Given the description of an element on the screen output the (x, y) to click on. 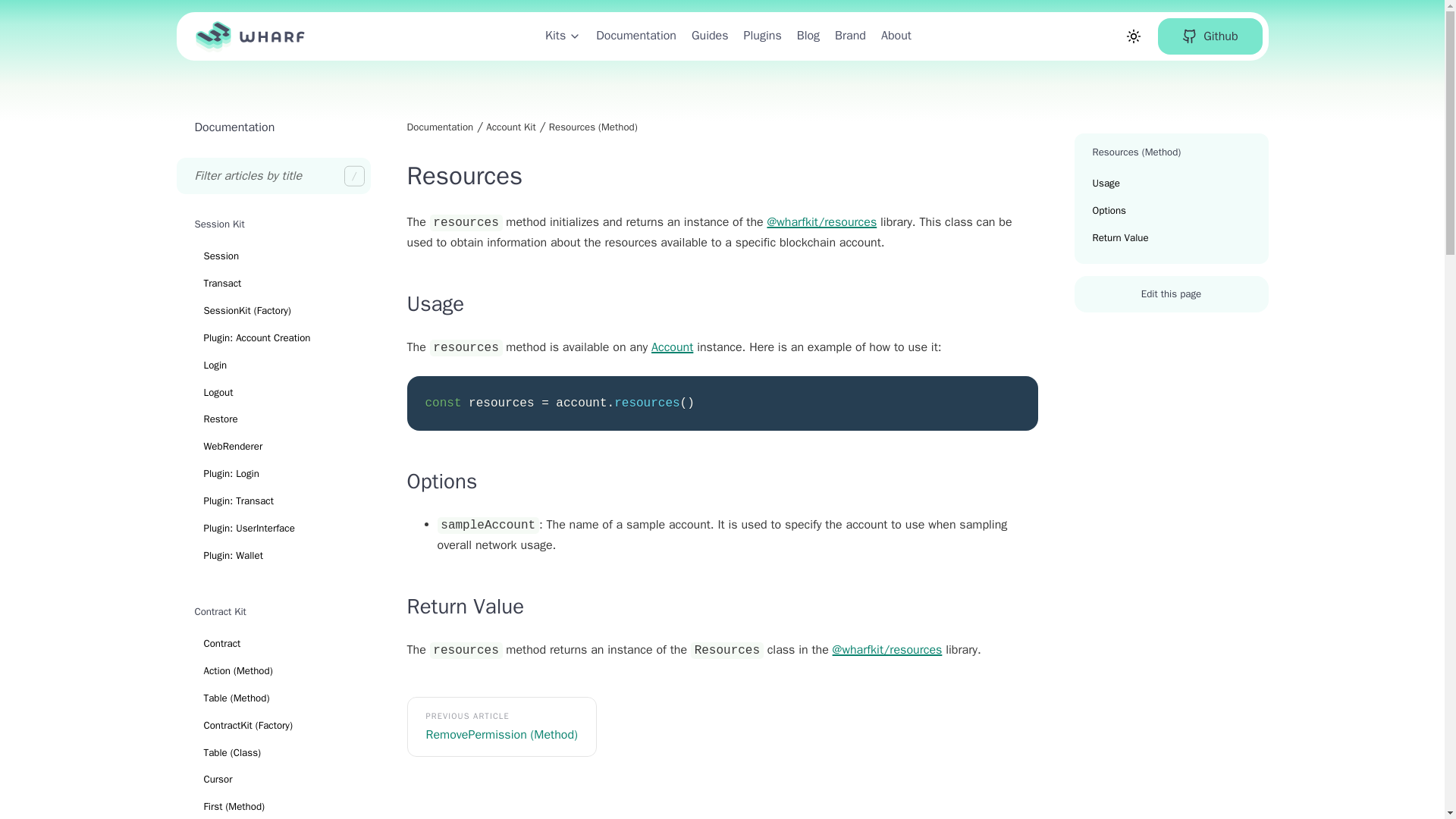
Restore (272, 419)
Login (272, 365)
Plugin: UserInterface (272, 528)
Session (272, 256)
WebRenderer (272, 446)
Logout (272, 392)
About (896, 35)
Contract (272, 643)
Plugin: Wallet (272, 555)
Plugin: Login (272, 473)
Brand (850, 35)
Blog (807, 35)
Documentation (234, 127)
Plugins (762, 35)
Session Kit (272, 224)
